Given the description of an element on the screen output the (x, y) to click on. 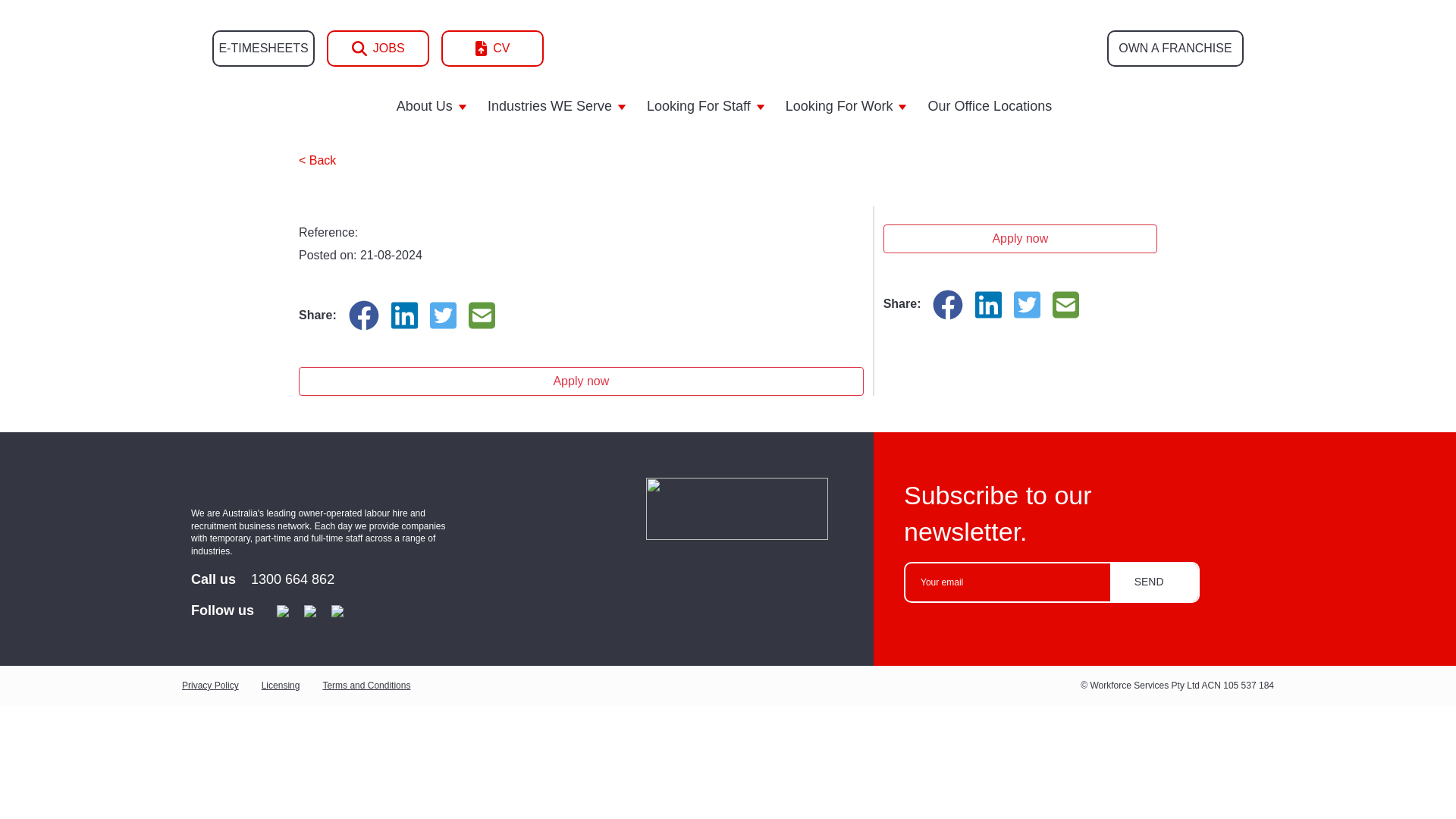
About Us (434, 106)
E-TIMESHEETS (263, 48)
Facebook (363, 315)
Our Office Locations (993, 106)
CV (492, 48)
Facebook (947, 304)
JOBS (377, 48)
OWN A FRANCHISE (1174, 48)
Industries WE Serve (559, 106)
Looking For Work (848, 106)
